Given the description of an element on the screen output the (x, y) to click on. 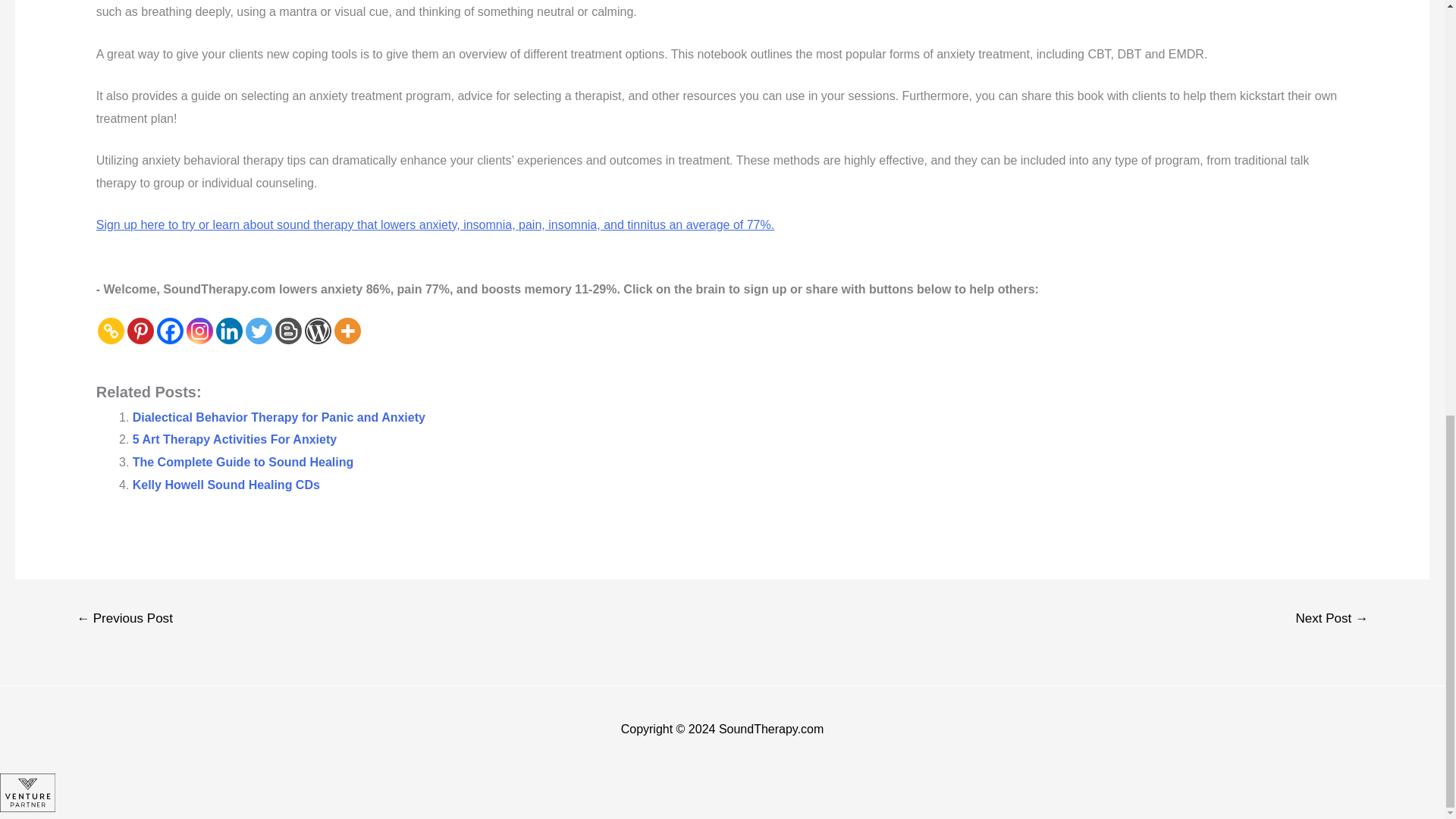
The Complete Guide to Sound Healing (242, 461)
5 Art Therapy Activities For Anxiety (234, 439)
Pinterest (141, 330)
Dialectical Behavior Therapy for Panic and Anxiety (278, 417)
Copy Link (110, 330)
Kelly Howell Sound Healing CDs (226, 484)
